Given the description of an element on the screen output the (x, y) to click on. 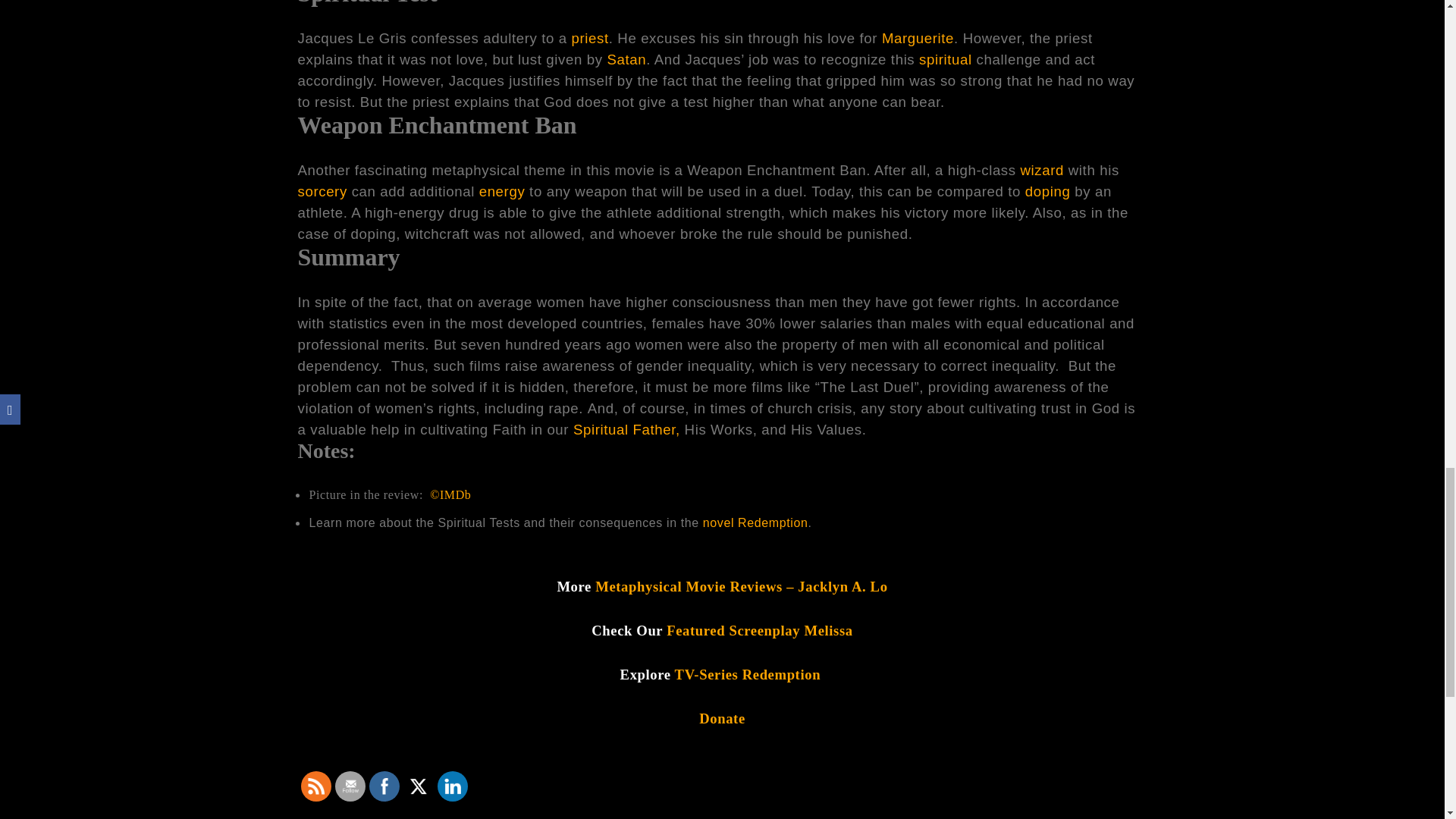
LinkedIn (452, 786)
Facebook (384, 786)
Follow by Email (350, 786)
Twitter (418, 785)
